Given the description of an element on the screen output the (x, y) to click on. 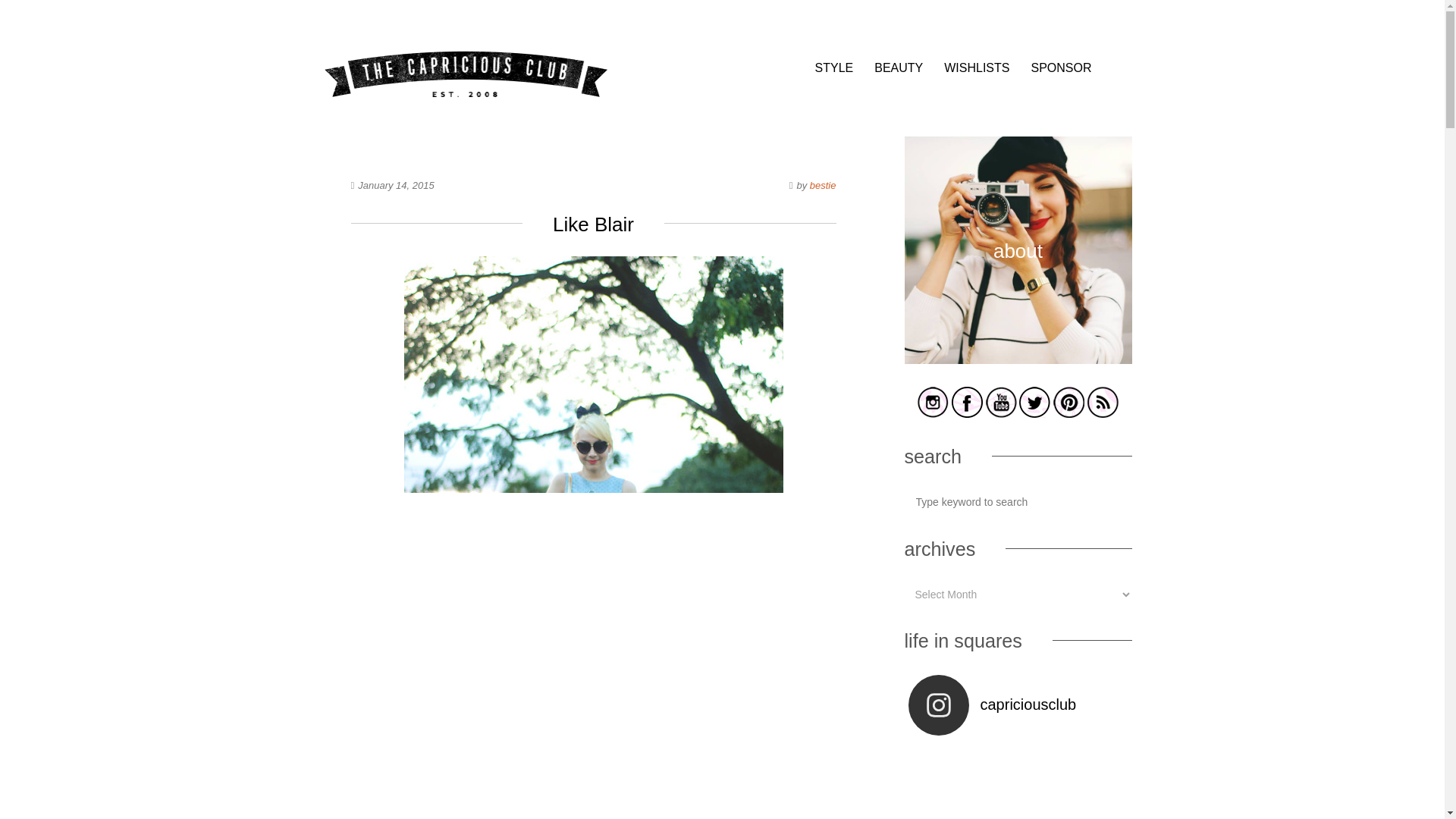
bestie (822, 184)
January 14, 2015 (395, 184)
STYLE (834, 68)
WISHLISTS (976, 68)
about (1017, 361)
Type keyword to search (1017, 501)
BEAUTY (899, 68)
Type keyword to search (1017, 501)
SPONSOR (1060, 68)
